Given the description of an element on the screen output the (x, y) to click on. 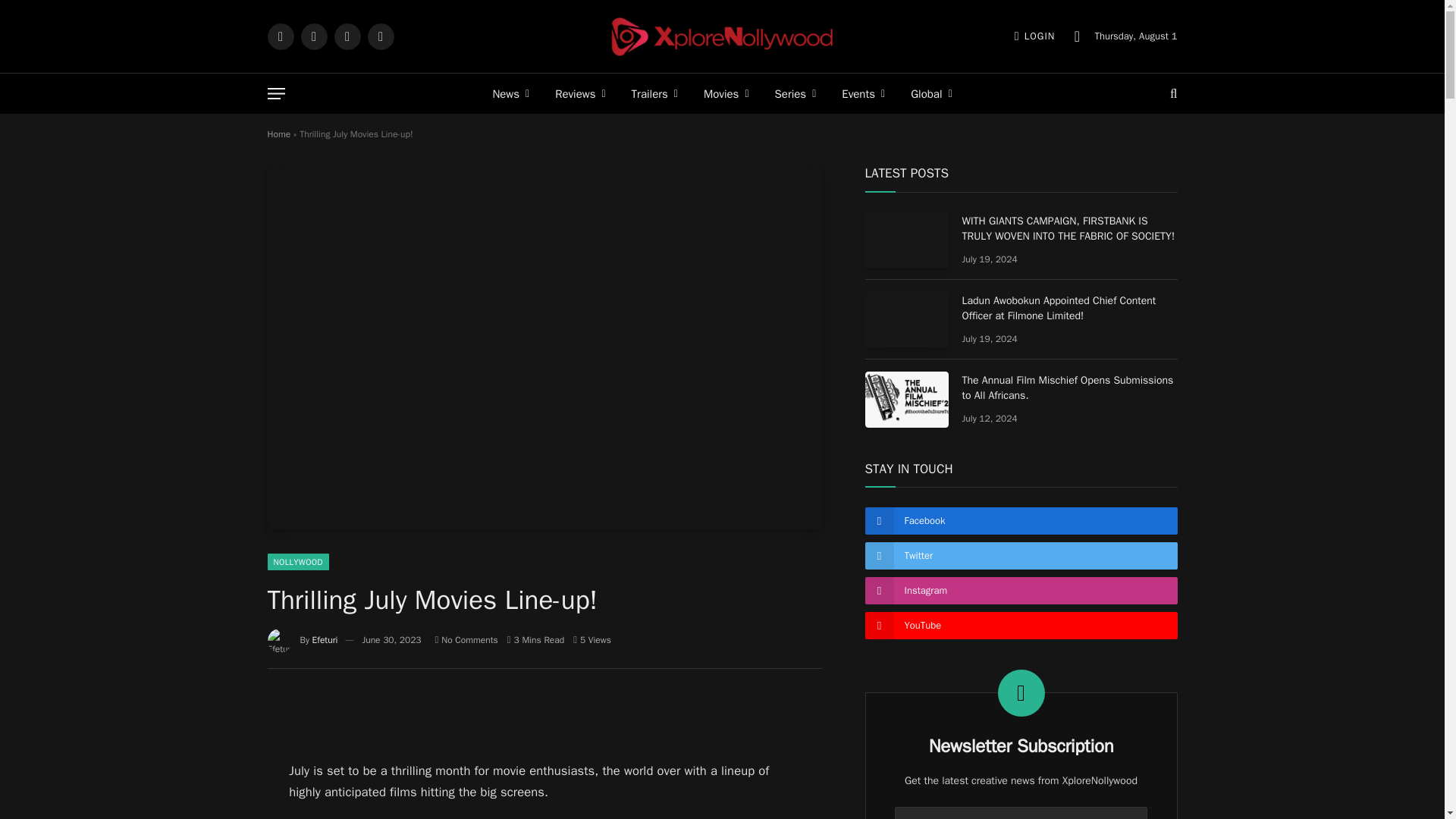
XploreNollywood (721, 36)
5 Article Views (592, 639)
Switch to Light Design. (1076, 36)
Posts by Efeturi (325, 639)
